Given the description of an element on the screen output the (x, y) to click on. 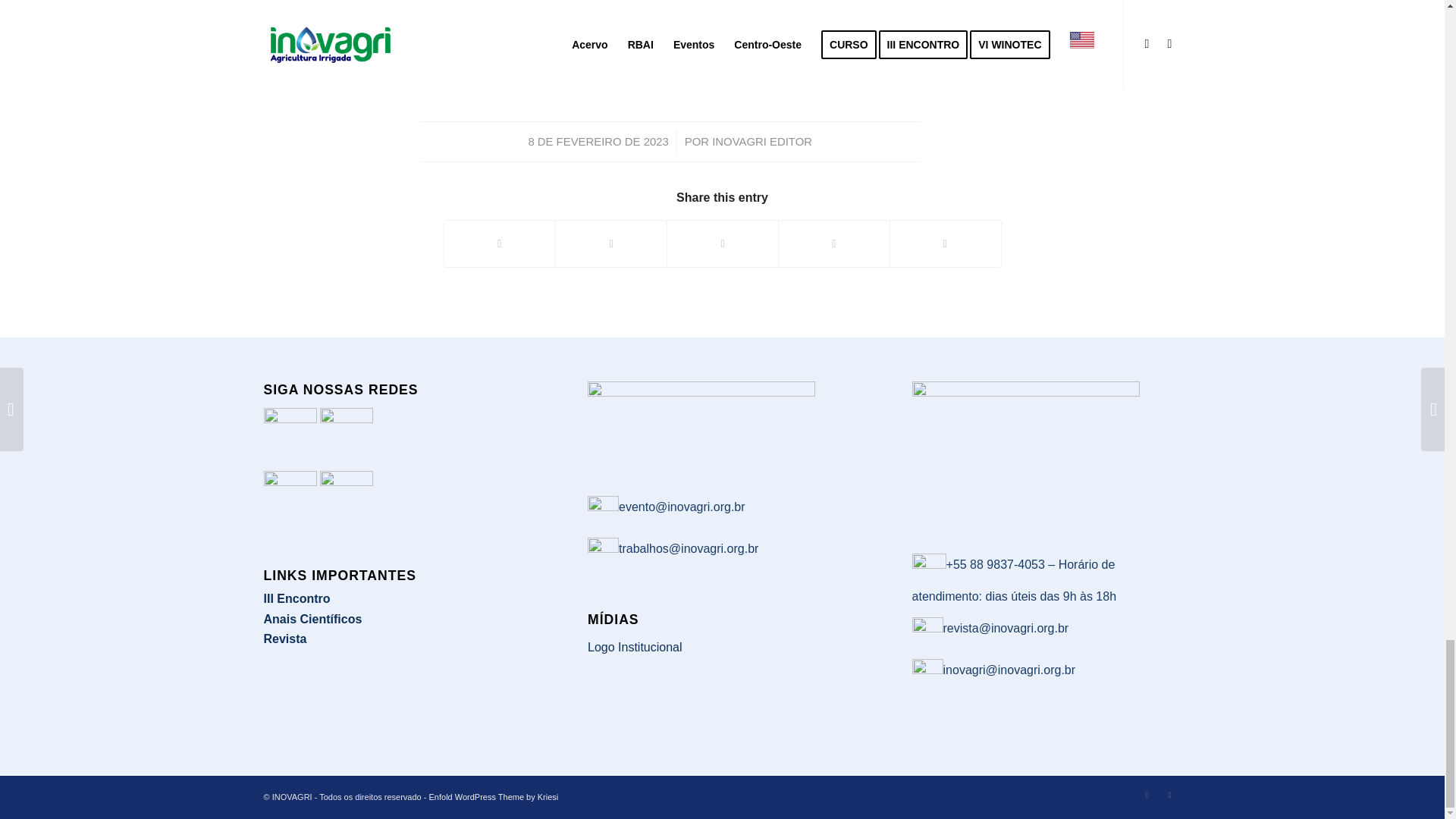
Posts de Inovagri Editor (761, 141)
Facebook (1169, 793)
INOVAGRI EDITOR (761, 141)
Instagram (1146, 793)
AdultCamLover (837, 4)
